Given the description of an element on the screen output the (x, y) to click on. 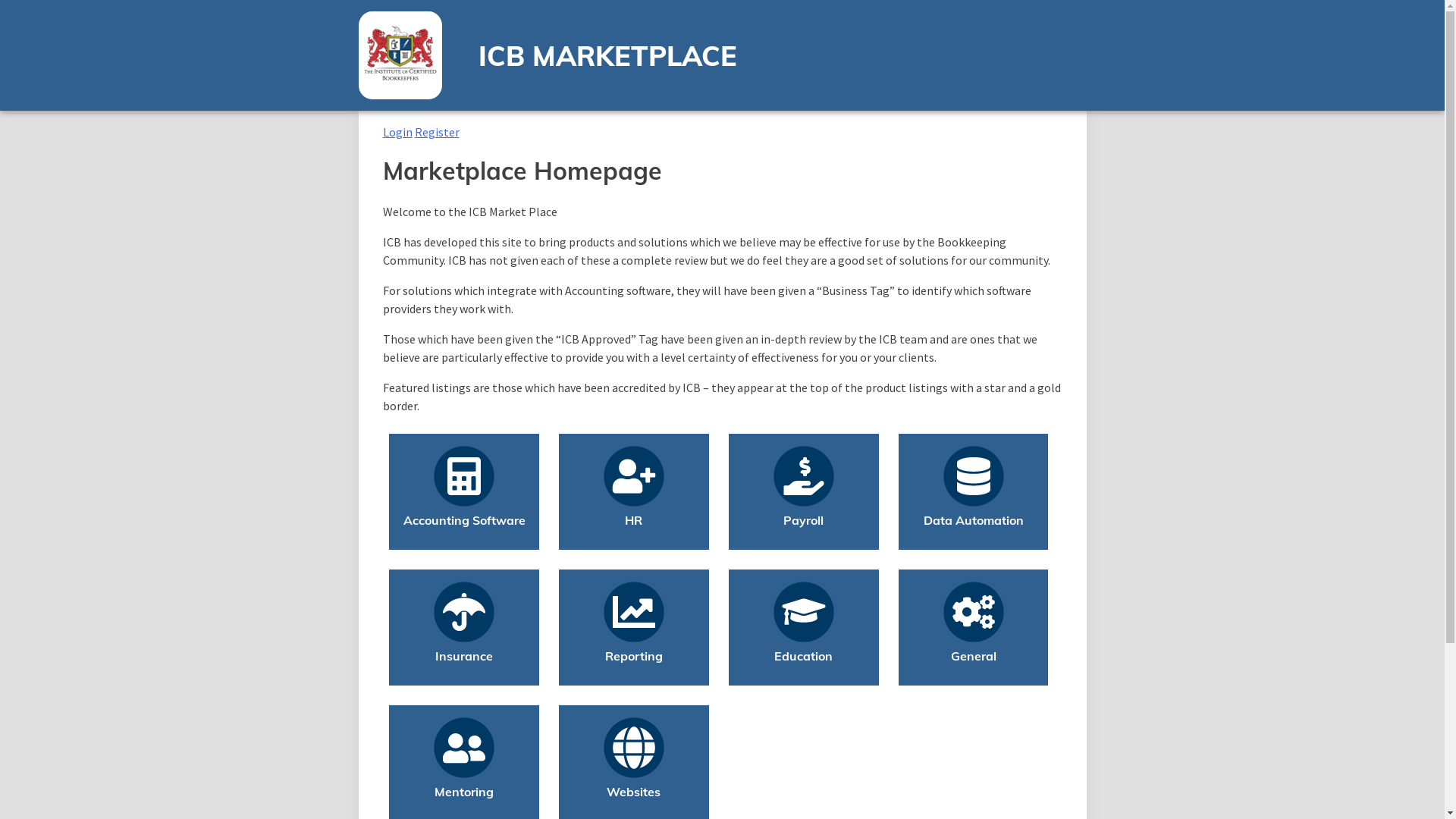
Accounting Software Element type: text (463, 531)
Login Element type: text (396, 131)
Data Automation Element type: text (973, 531)
General Element type: text (973, 667)
Register Element type: text (436, 131)
ICB MARKETPLACE Element type: text (606, 54)
Insurance Element type: text (463, 667)
Education Element type: text (803, 667)
Reporting Element type: text (633, 667)
Payroll Element type: text (803, 531)
HR Element type: text (633, 531)
